Given the description of an element on the screen output the (x, y) to click on. 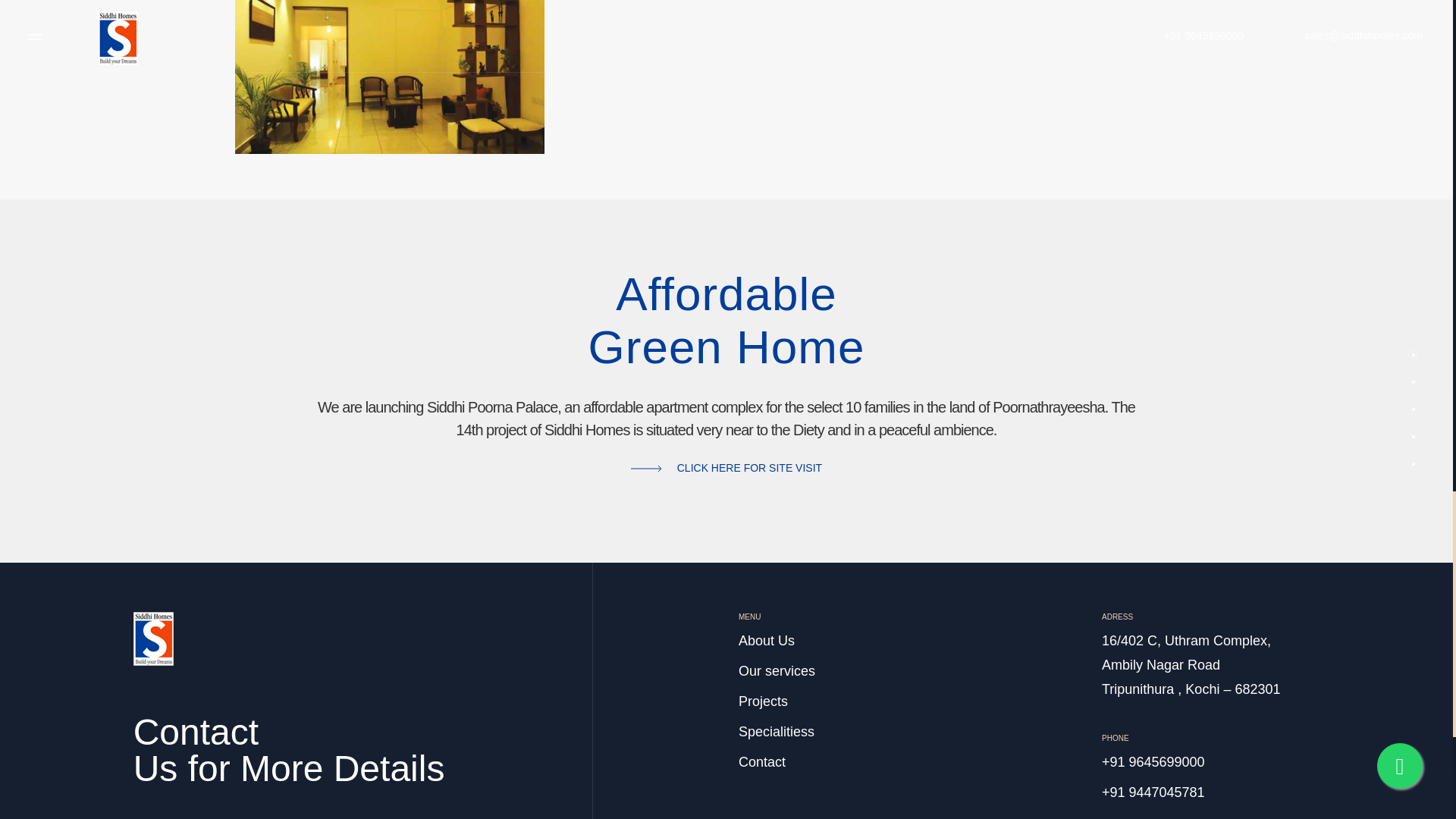
About Us (766, 641)
Contact (762, 762)
Specialitiess (775, 732)
Projects (762, 702)
CLICK HERE FOR SITE VISIT (726, 467)
Our services (776, 671)
